Given the description of an element on the screen output the (x, y) to click on. 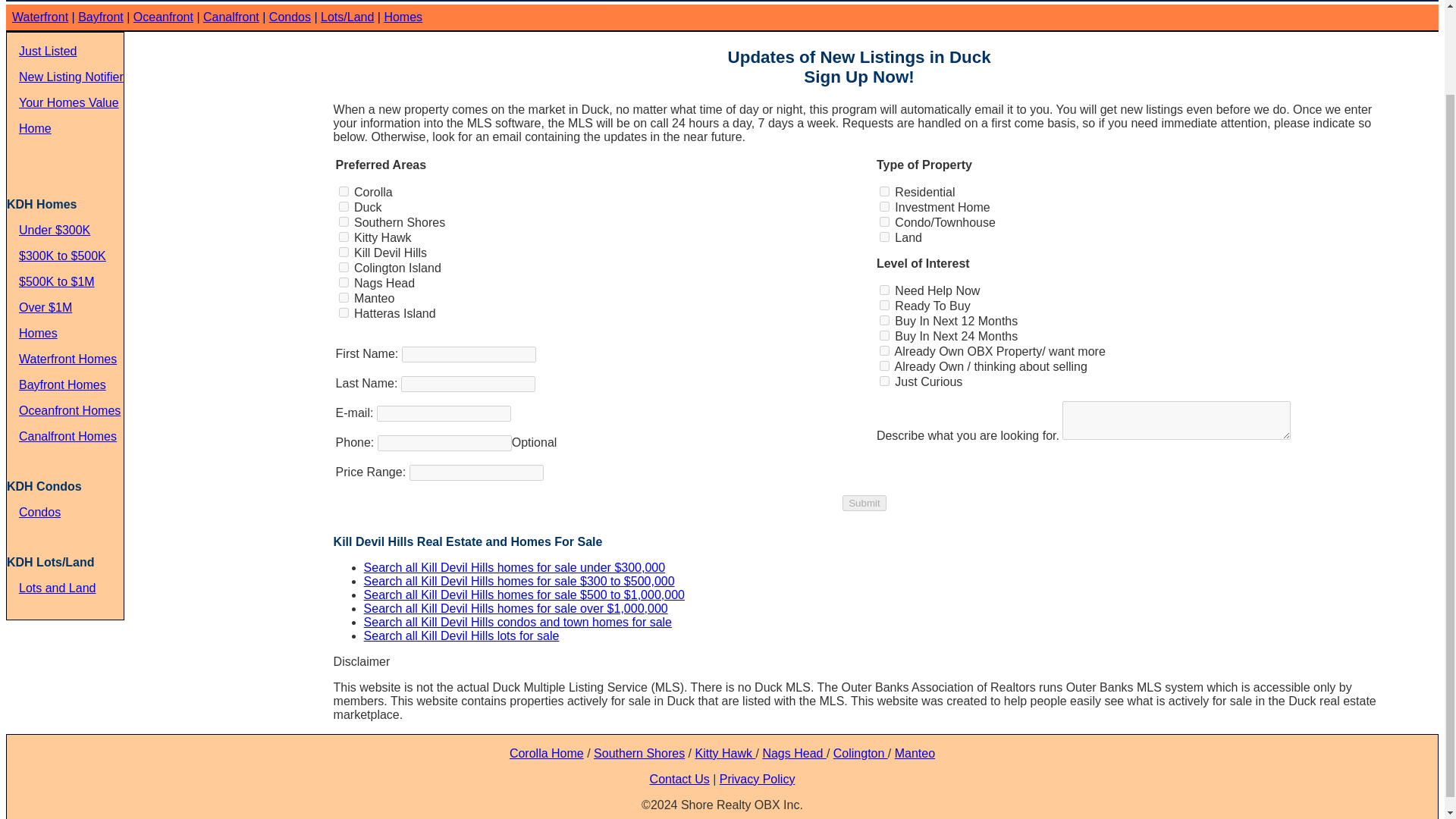
Oceanfront Homes (69, 410)
yes (884, 236)
Search all Kill Devil Hills lots for sale (461, 635)
Kill Devil Hills homes (403, 16)
Bayfront (100, 16)
Kitty Hawk (724, 753)
yes (344, 282)
Homes (403, 16)
Canalfront (231, 16)
Condos (290, 16)
yes (884, 206)
Search all Kill Devil Hills condos and town homes for sale (290, 16)
Waterfront (39, 16)
Search all Kill Devil Hills lots for sale (461, 635)
